Given the description of an element on the screen output the (x, y) to click on. 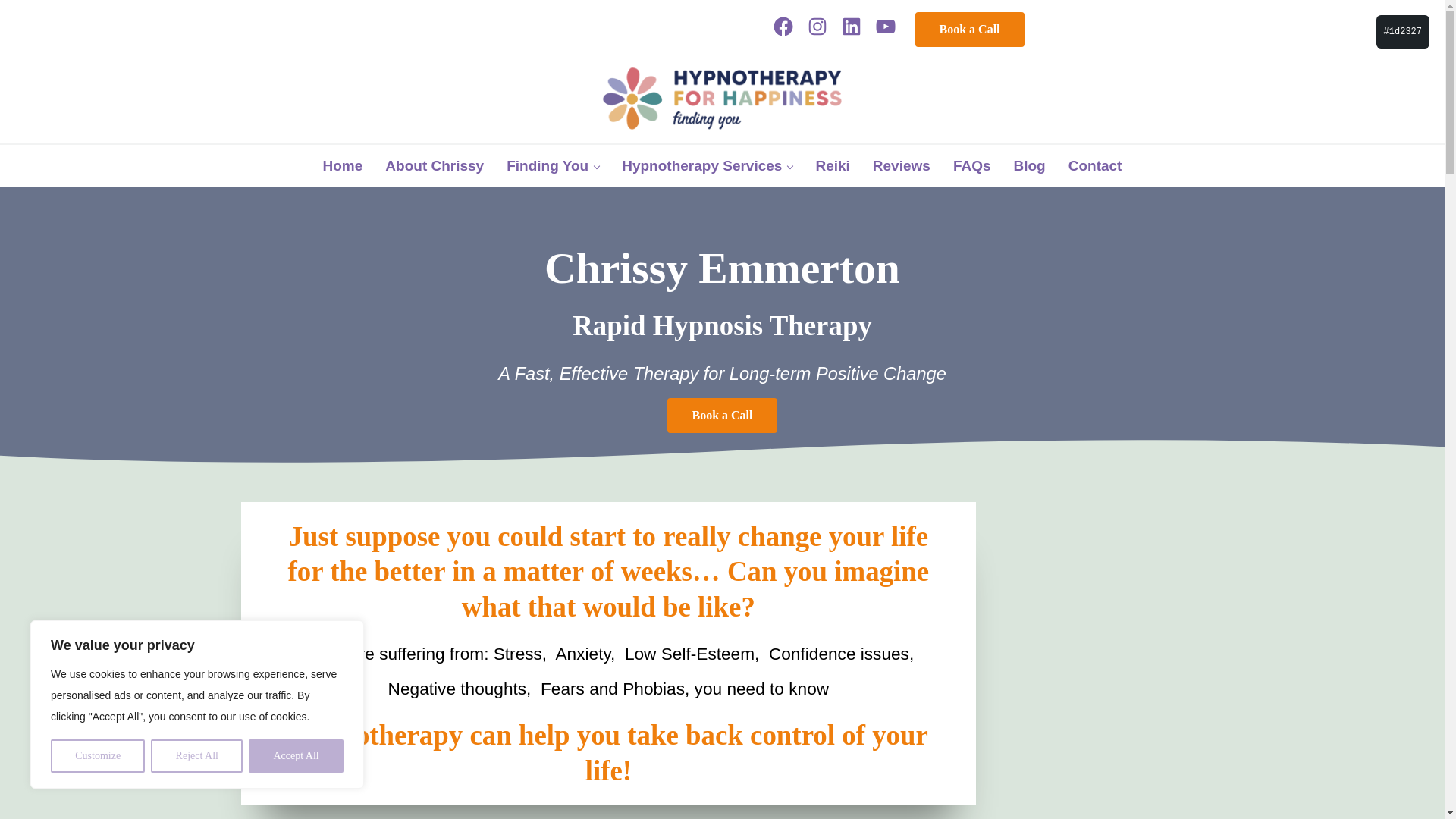
Finding You (552, 165)
Reiki in Malvern Worcester (831, 165)
Facebook (783, 26)
Home (342, 165)
Hypnotherapist in Malvern, Worcester (434, 165)
Reject All (197, 756)
Reviews (901, 165)
Contact Christina Emmerton hypnotherapist in Malvern (1095, 165)
Reiki (831, 165)
Questions about Hypnotherapy (972, 165)
About Chrissy (434, 165)
Customize (97, 756)
Blog (1030, 165)
Book a Call (970, 29)
